Given the description of an element on the screen output the (x, y) to click on. 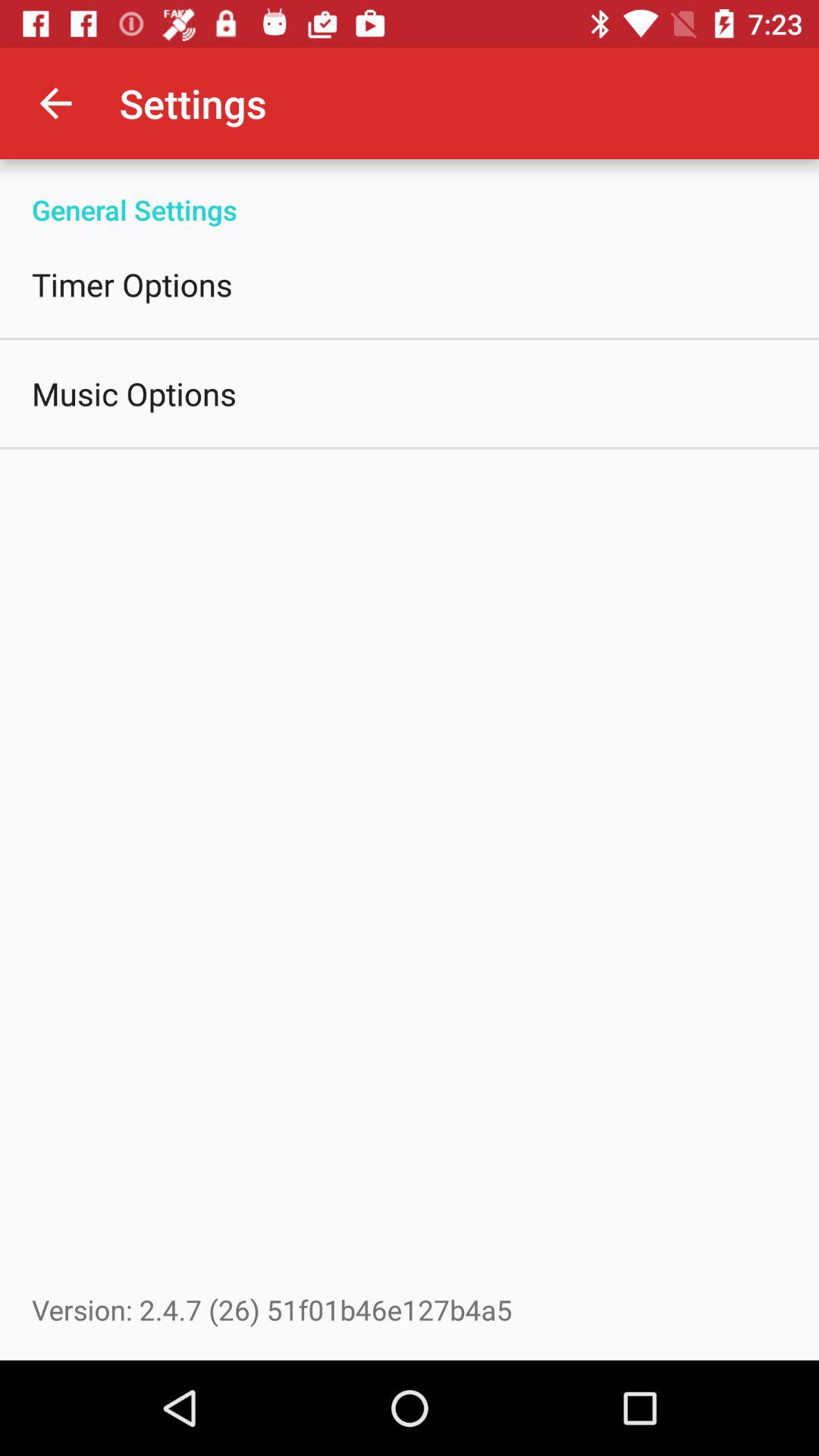
open general settings (409, 193)
